Given the description of an element on the screen output the (x, y) to click on. 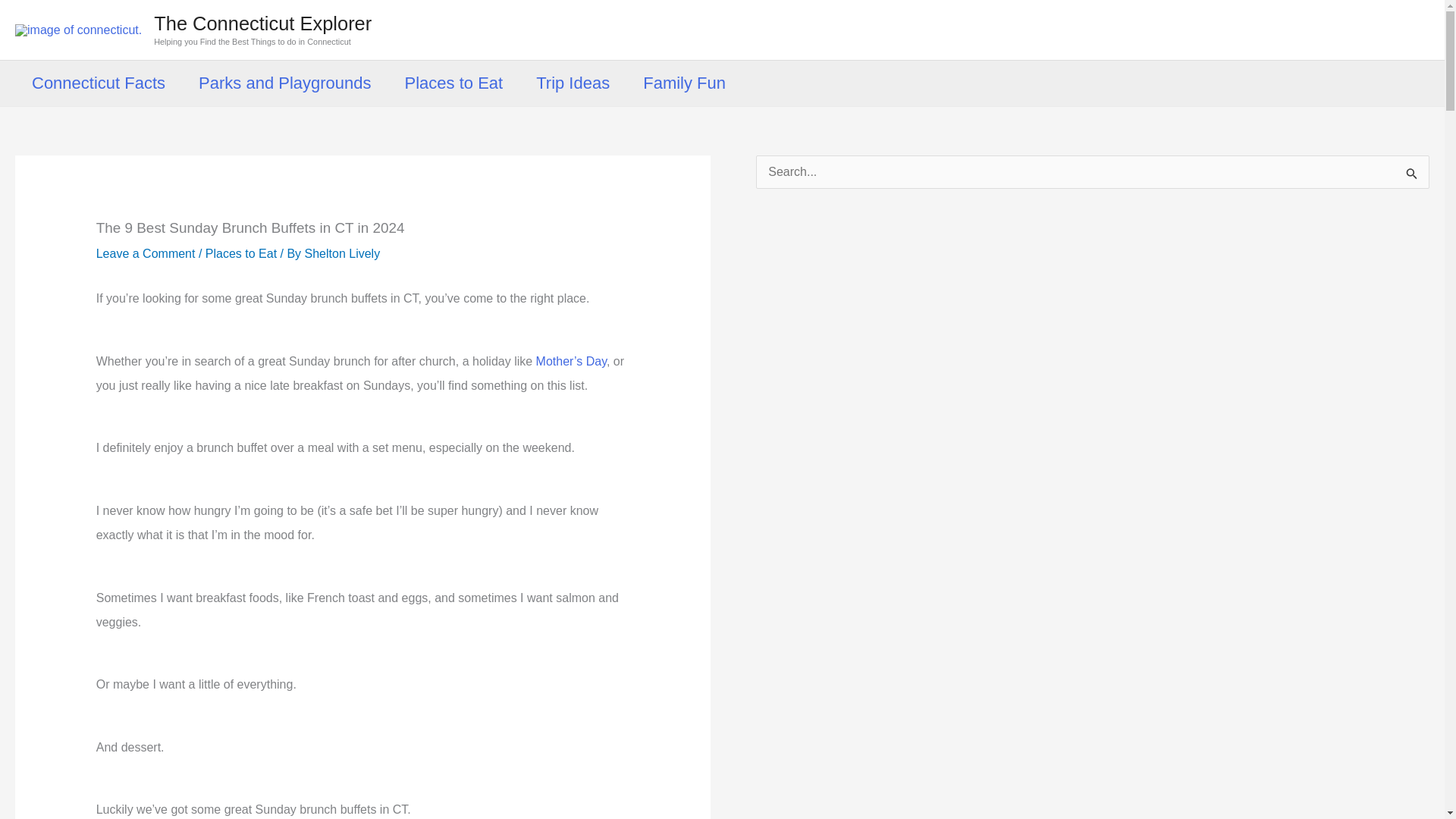
Places to Eat (453, 83)
Connecticut Facts (98, 83)
Leave a Comment (145, 253)
View all posts by Shelton Lively (342, 253)
Trip Ideas (572, 83)
Search (1411, 176)
The Connecticut Explorer (262, 23)
Family Fun (684, 83)
Shelton Lively (342, 253)
Places to Eat (240, 253)
Parks and Playgrounds (284, 83)
Search (1411, 176)
